Given the description of an element on the screen output the (x, y) to click on. 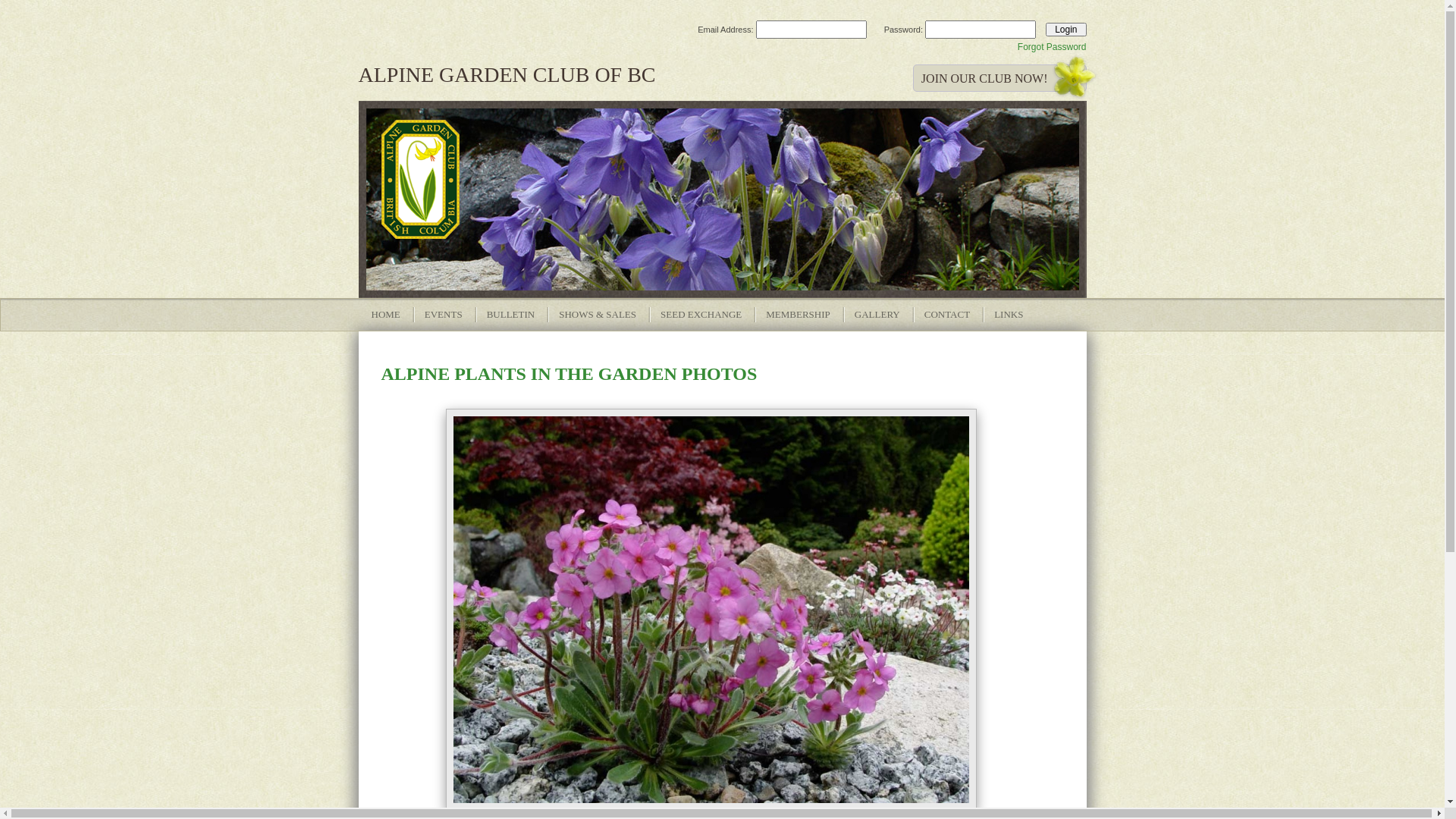
EVENTS Element type: text (443, 314)
BULLETIN Element type: text (510, 314)
CONTACT Element type: text (947, 314)
Login Element type: text (1065, 29)
SEED EXCHANGE Element type: text (700, 314)
MEMBERSHIP Element type: text (797, 314)
SHOWS & SALES Element type: text (597, 314)
HOME Element type: text (385, 314)
LINKS Element type: text (1008, 314)
Forgot Password Element type: text (1051, 46)
JOIN OUR CLUB NOW! Element type: text (999, 77)
GALLERY Element type: text (877, 314)
